Given the description of an element on the screen output the (x, y) to click on. 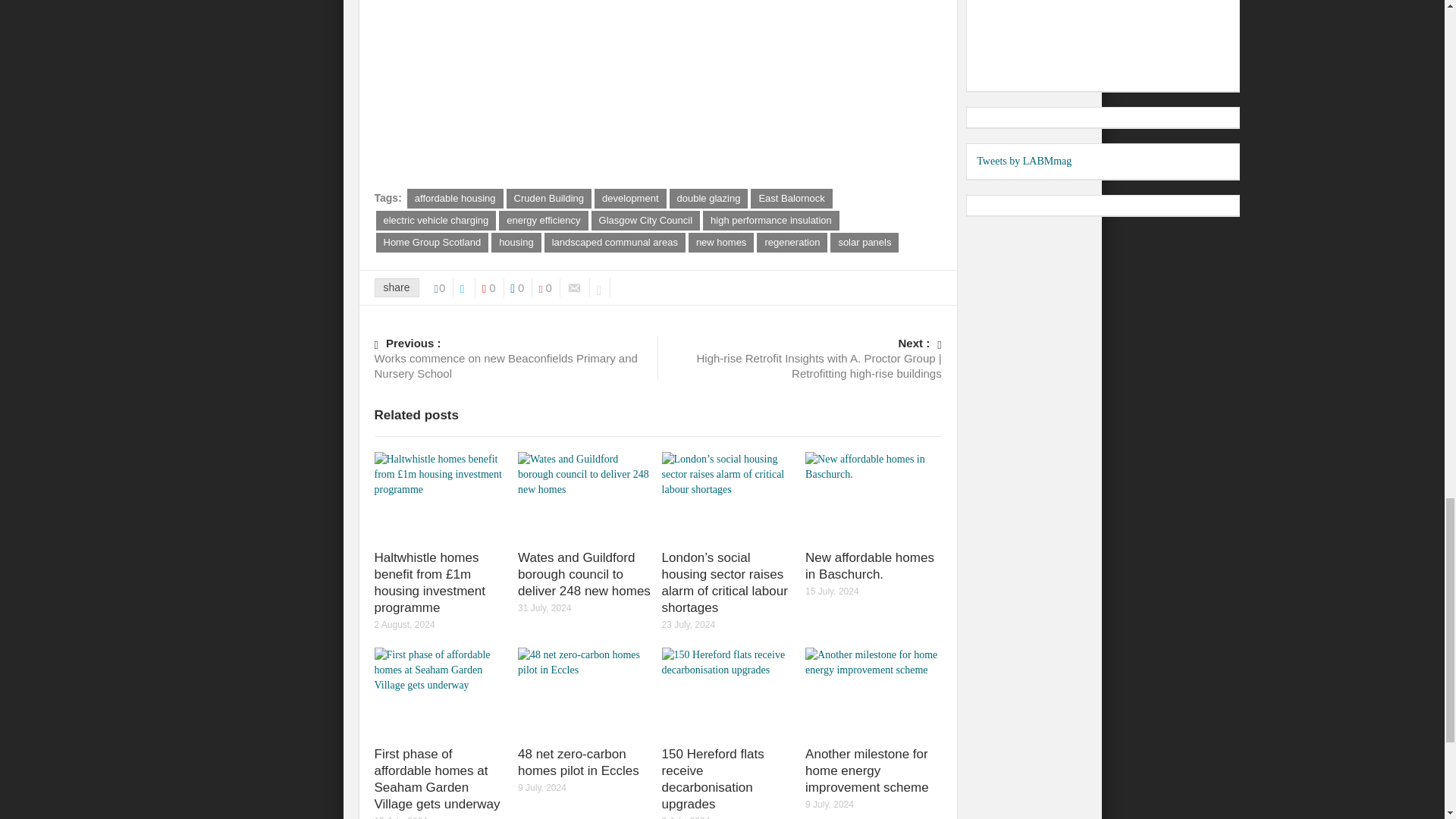
Home Group Scotland (432, 242)
double glazing (708, 198)
high performance insulation (771, 220)
East Balornock (791, 198)
regeneration (792, 242)
landscaped communal areas (614, 242)
electric vehicle charging (435, 220)
Glasgow City Council (645, 220)
Cruden Building (549, 198)
new homes (721, 242)
